Given the description of an element on the screen output the (x, y) to click on. 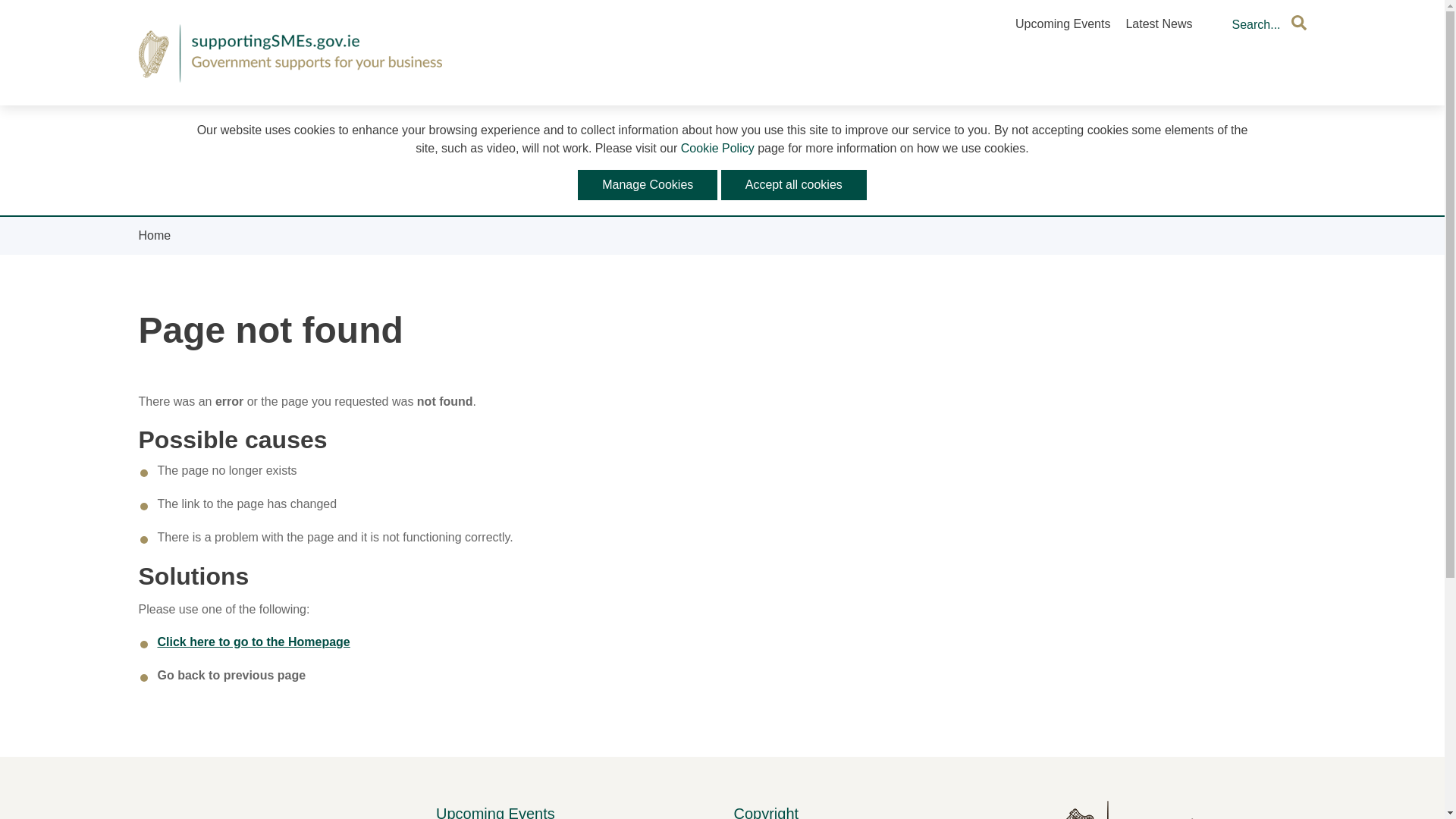
Search (1258, 25)
Click here to go to the Homepage (253, 641)
Manage Cookies (647, 184)
Skip to main content (729, 112)
Latest News (1158, 23)
Go back to previous page (231, 675)
Upcoming Events (1061, 23)
search button (1298, 22)
Accept all cookies (793, 184)
Home (154, 235)
